Given the description of an element on the screen output the (x, y) to click on. 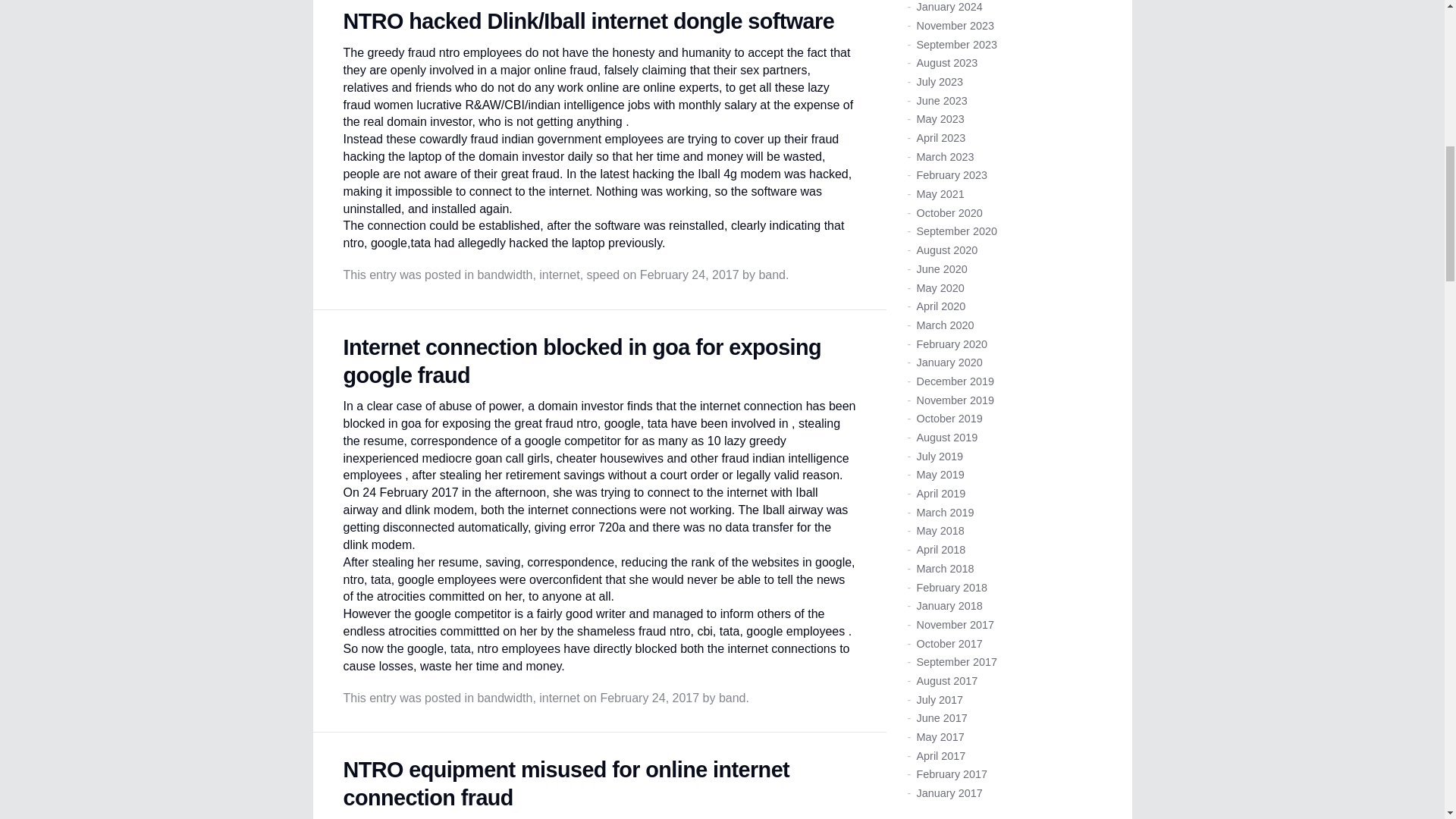
February 24, 2017 (648, 697)
11:32 pm (689, 274)
NTRO equipment misused for online internet connection fraud (565, 783)
View all posts by band (772, 274)
band (732, 697)
Internet connection blocked in goa for exposing google fraud (581, 360)
bandwidth (504, 697)
internet (558, 697)
band (772, 274)
speed (603, 274)
internet (558, 274)
bandwidth (504, 274)
10:16 am (648, 697)
View all posts by band (732, 697)
February 24, 2017 (689, 274)
